Given the description of an element on the screen output the (x, y) to click on. 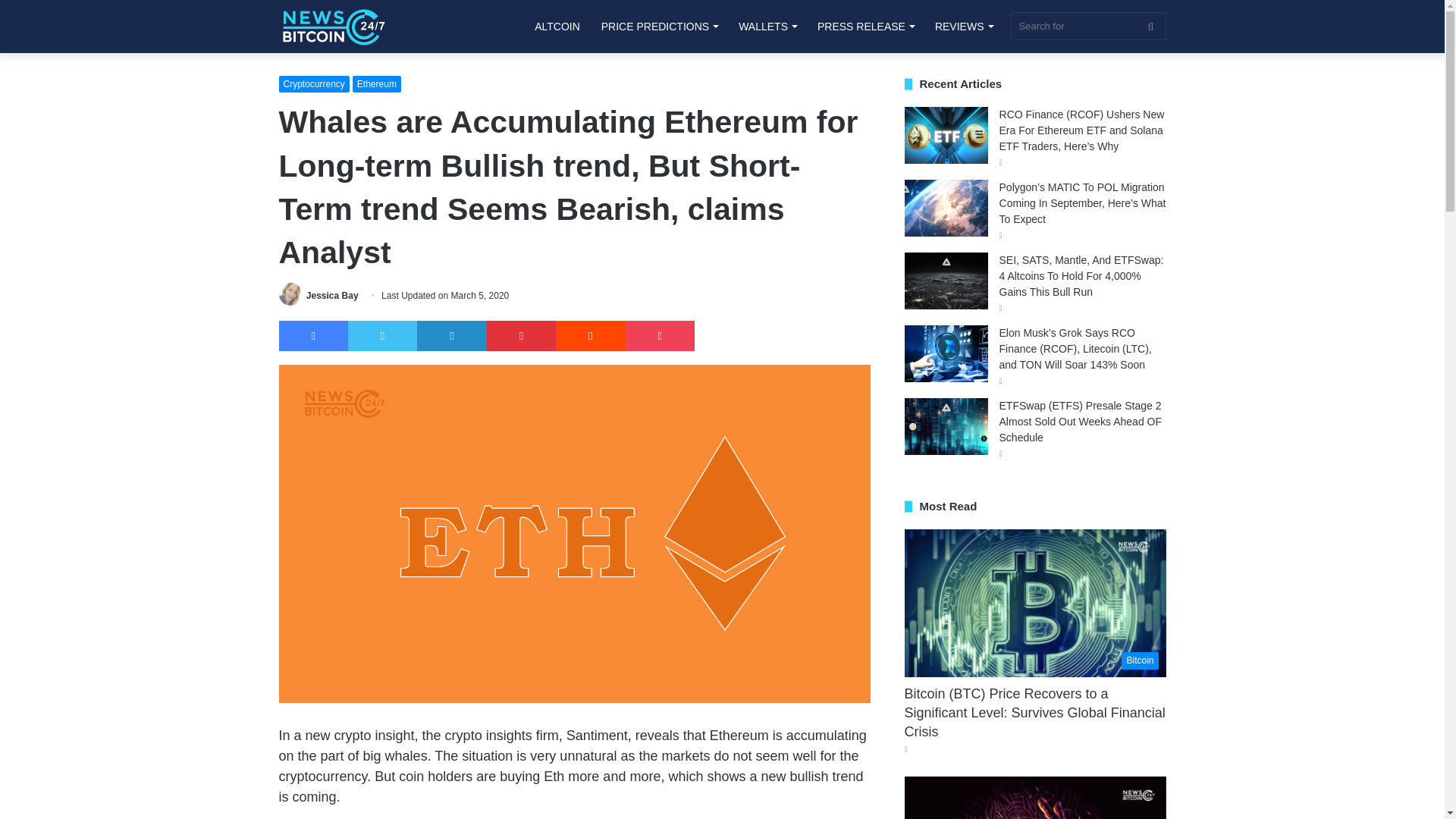
ALTCOIN (557, 26)
Cryptocurrency (314, 84)
Search for (1088, 26)
Jessica Bay (331, 295)
Facebook (313, 336)
Pinterest (521, 336)
WALLETS (767, 26)
News Bitcoin 247 (333, 26)
LinkedIn (451, 336)
Pocket (660, 336)
Facebook (313, 336)
Twitter (381, 336)
Twitter (381, 336)
Ethereum (376, 84)
Reddit (590, 336)
